Given the description of an element on the screen output the (x, y) to click on. 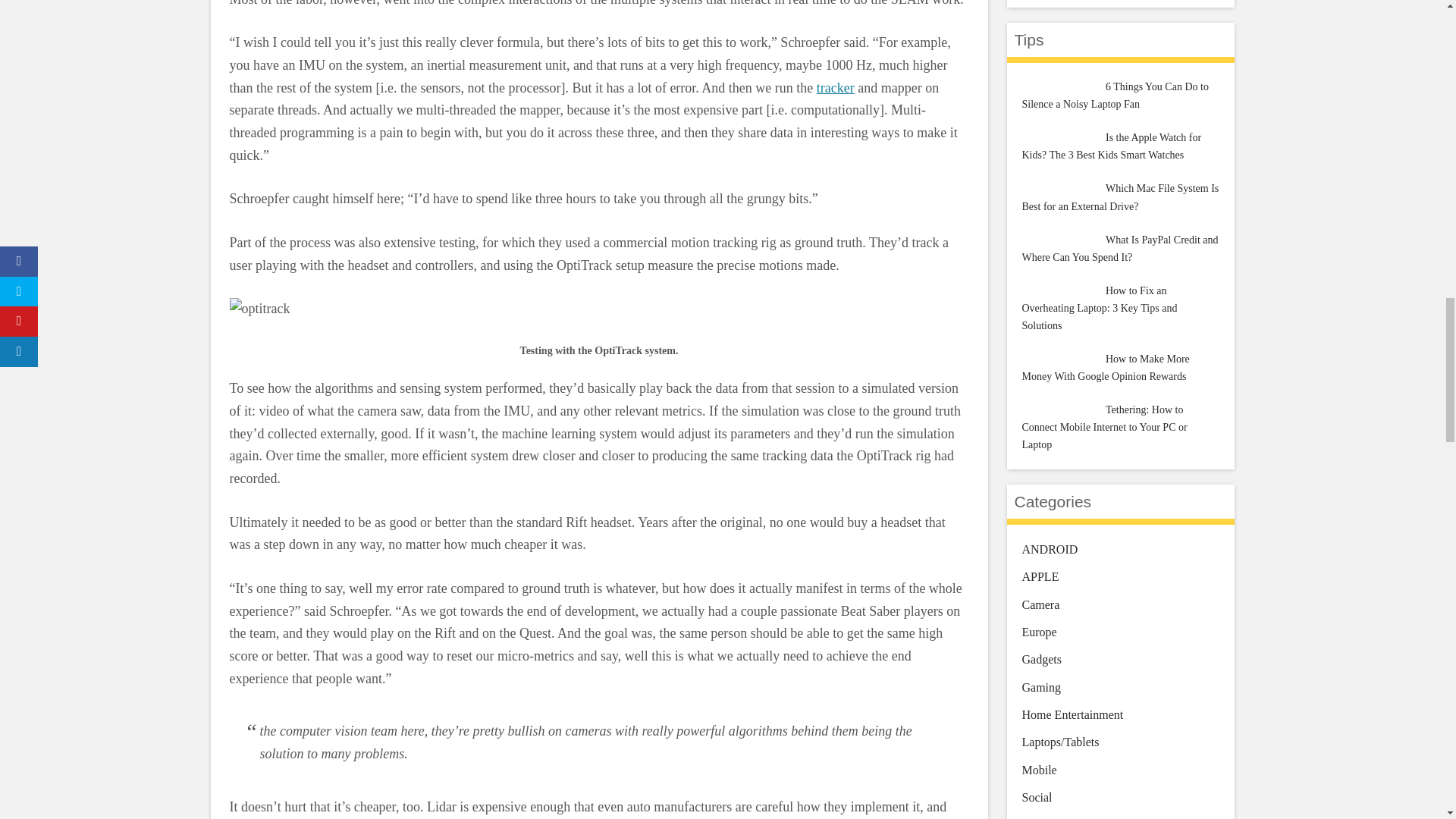
optitrack (258, 309)
